Given the description of an element on the screen output the (x, y) to click on. 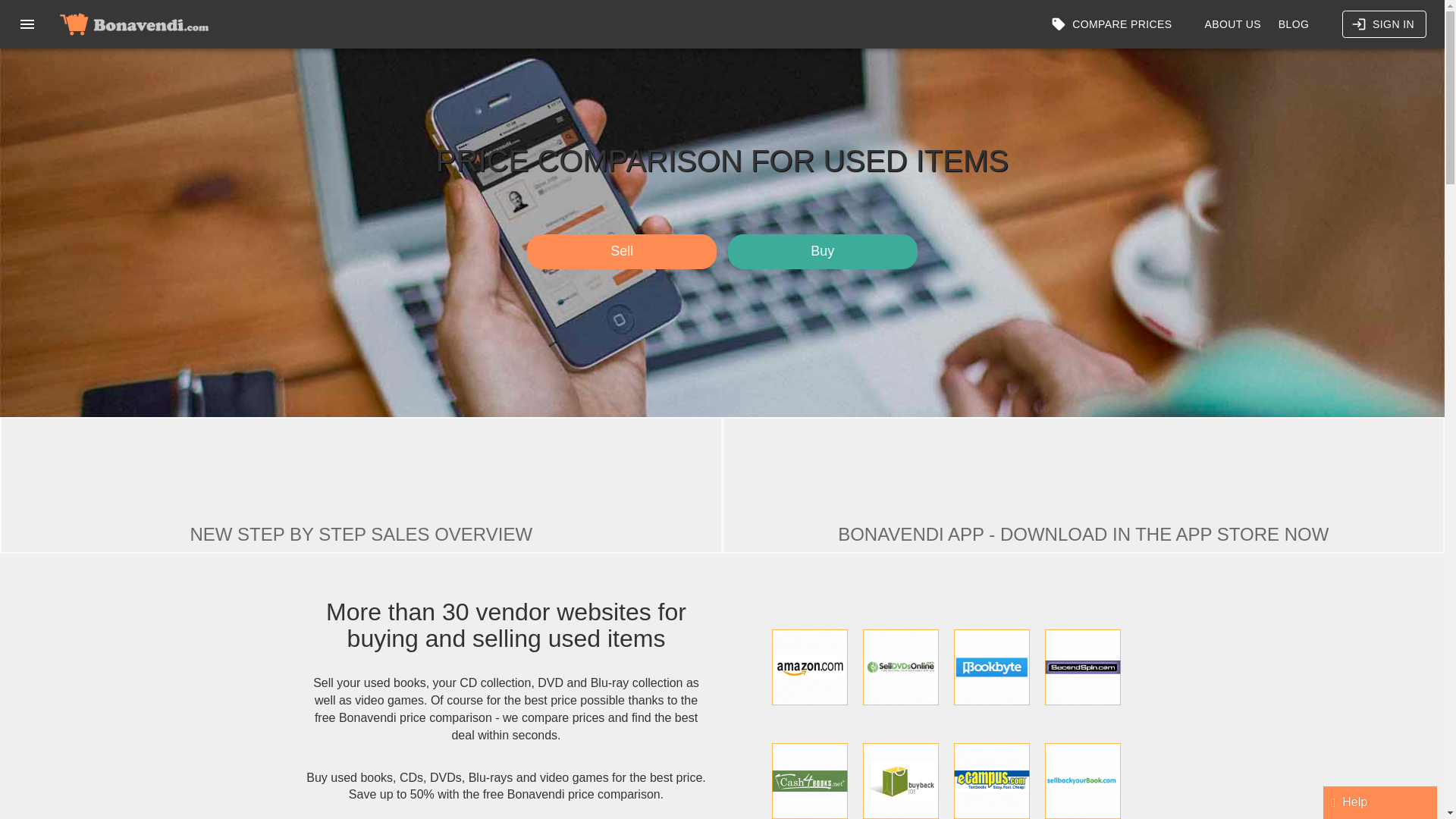
COMPARE PRICES (1112, 24)
SIGN IN (1384, 24)
Buy (822, 251)
ABOUT US (1232, 24)
BLOG (1293, 24)
Sell (621, 251)
